Given the description of an element on the screen output the (x, y) to click on. 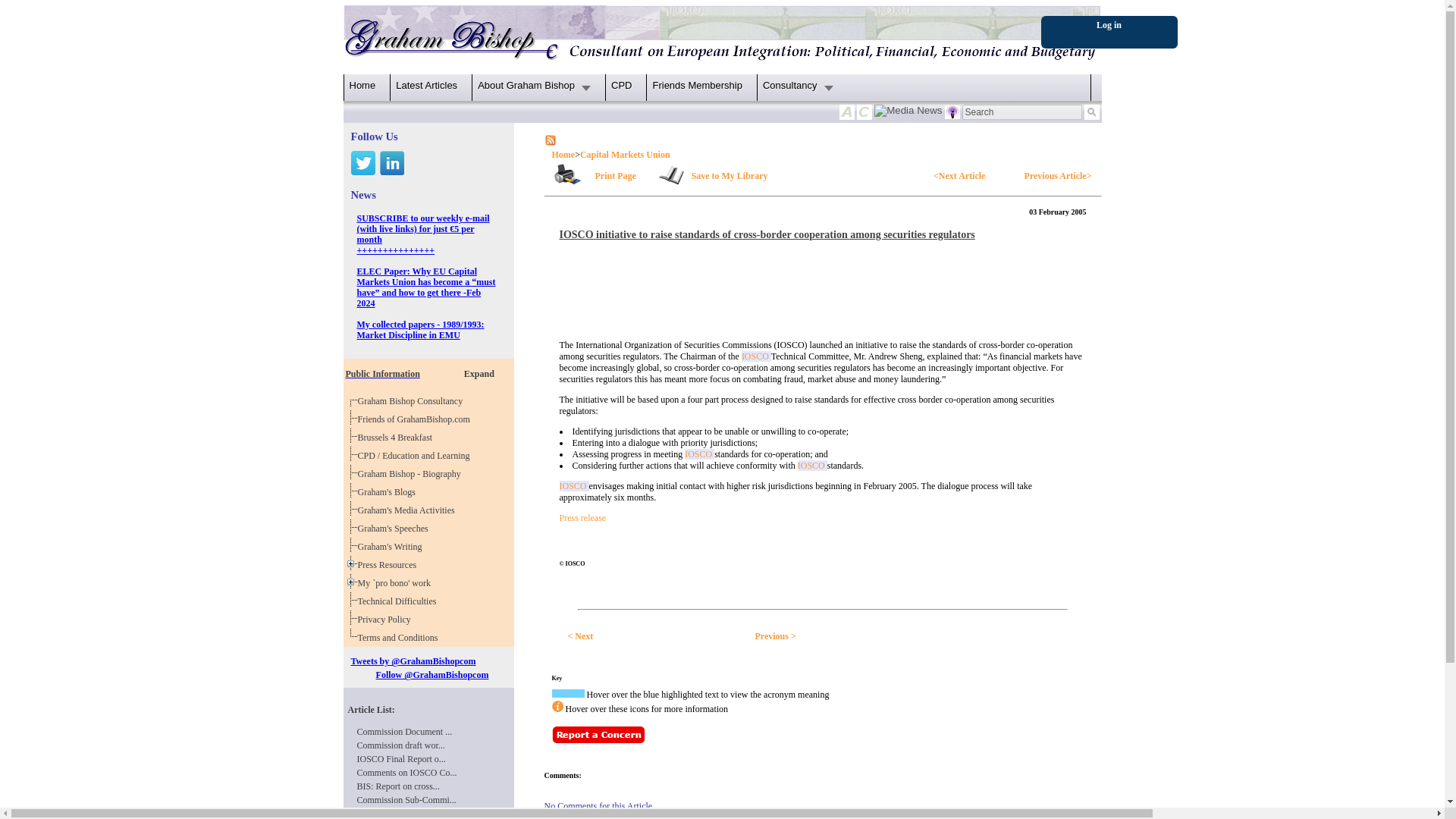
Consultancy (797, 84)
About Graham Bishop (534, 84)
Expand (479, 374)
Graham's Speeches   (395, 528)
CPD (621, 84)
Graham's Blogs   (389, 491)
Graham's Media Activities   (409, 510)
Graham's Writing   (392, 546)
Graham Bishop - Biography   (411, 473)
My new books in 2011 (392, 546)
Terms and Conditions for use of GrahamBishop.com (400, 637)
Media News (908, 111)
Friends Membership (427, 369)
